Given the description of an element on the screen output the (x, y) to click on. 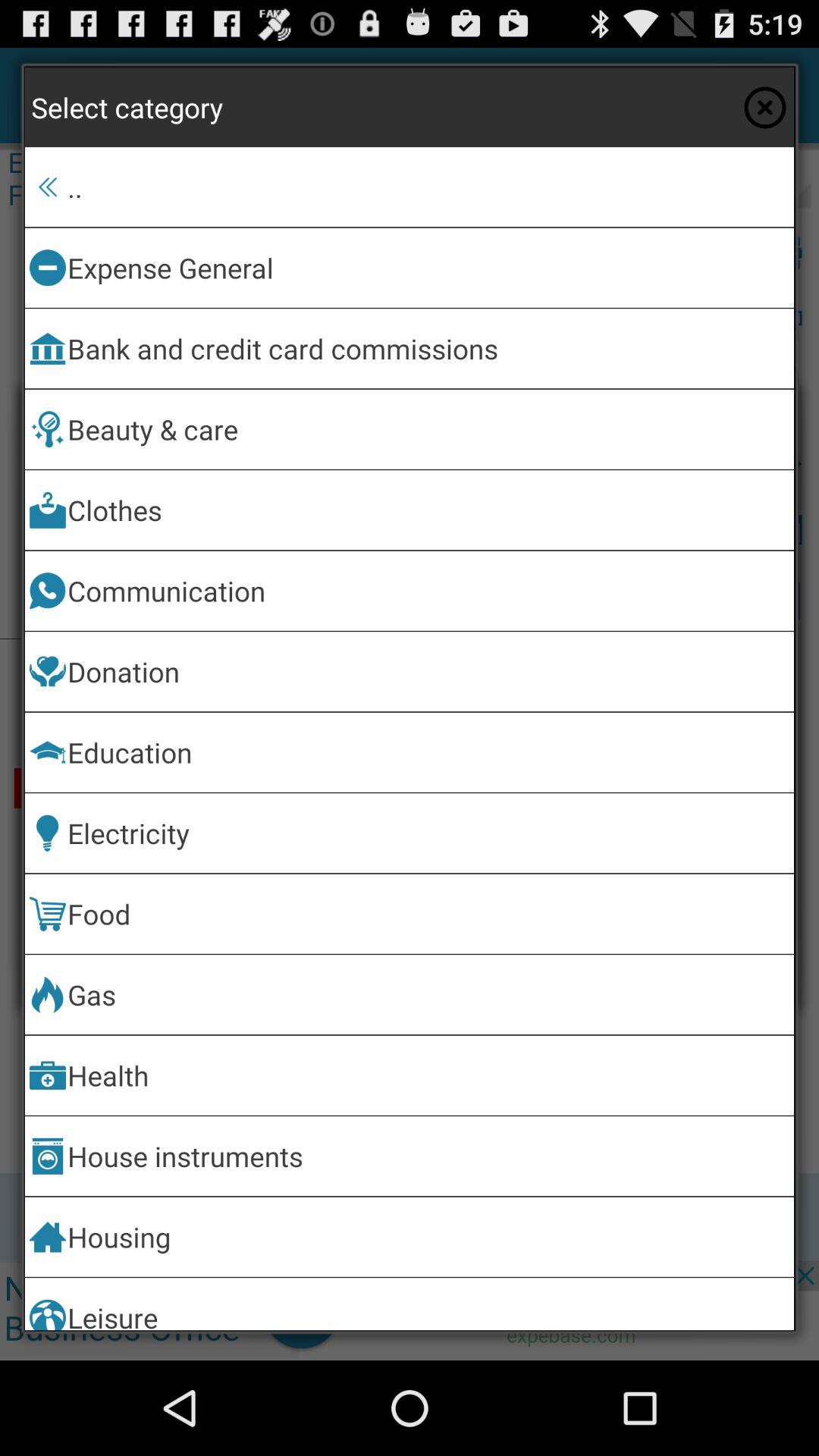
jump to electricity (427, 833)
